Given the description of an element on the screen output the (x, y) to click on. 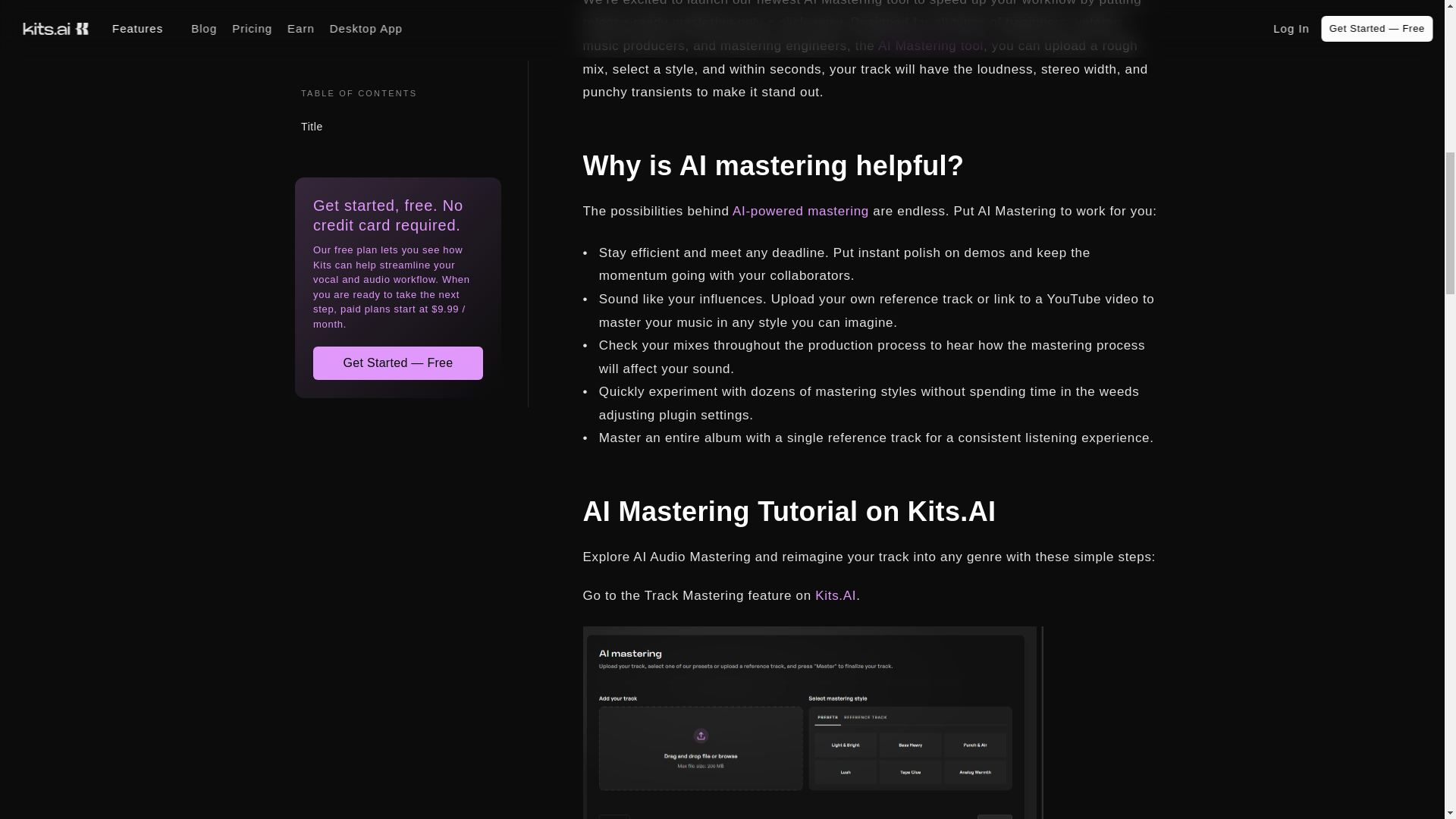
AI Mastering tool (930, 45)
Kits.AI (835, 595)
AI-powered mastering (800, 210)
